Given the description of an element on the screen output the (x, y) to click on. 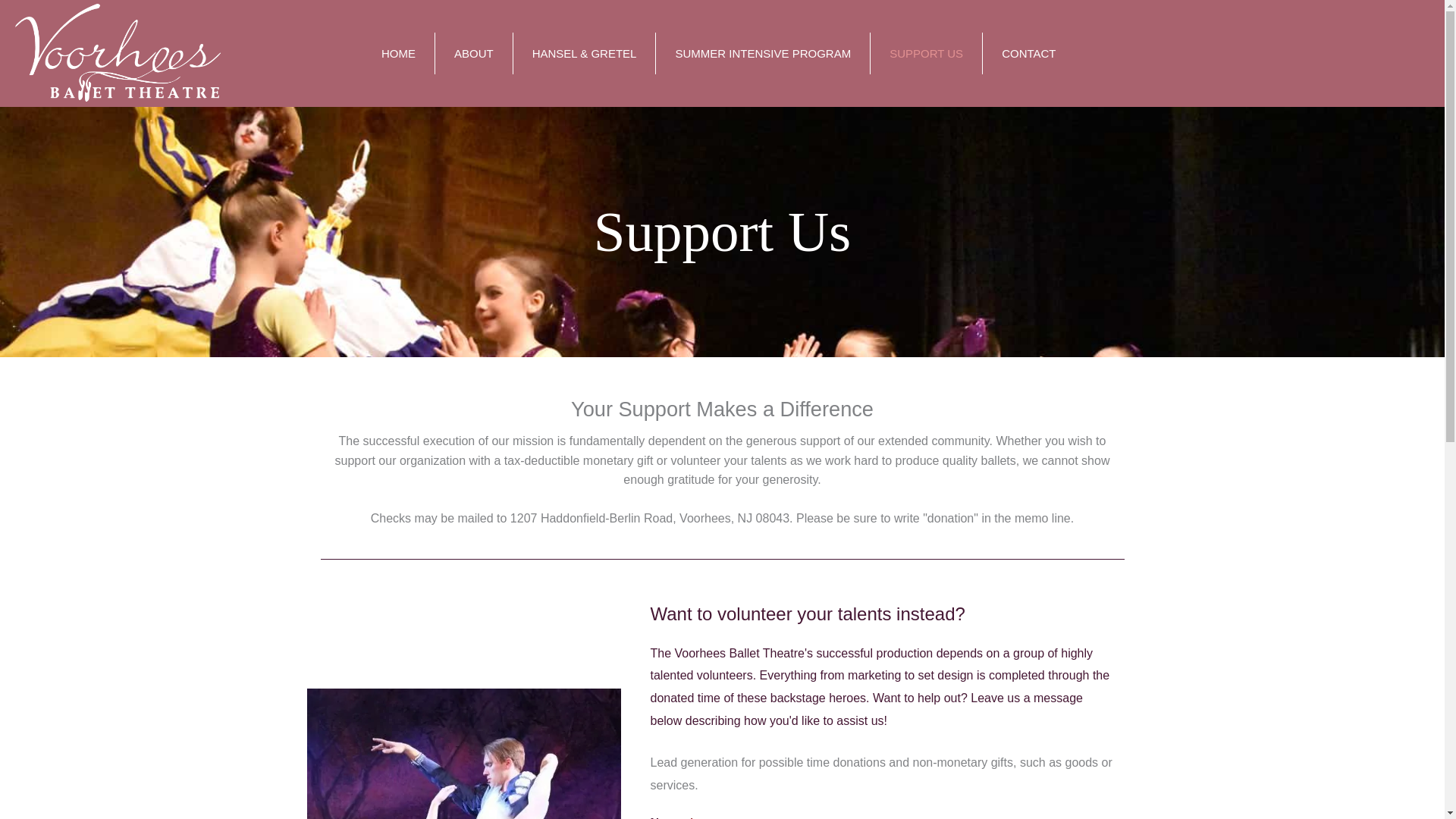
SUMMER INTENSIVE PROGRAM (762, 53)
SUPPORT US (925, 53)
swan (464, 753)
ABOUT (473, 53)
HOME (397, 53)
CONTACT (1028, 53)
